Given the description of an element on the screen output the (x, y) to click on. 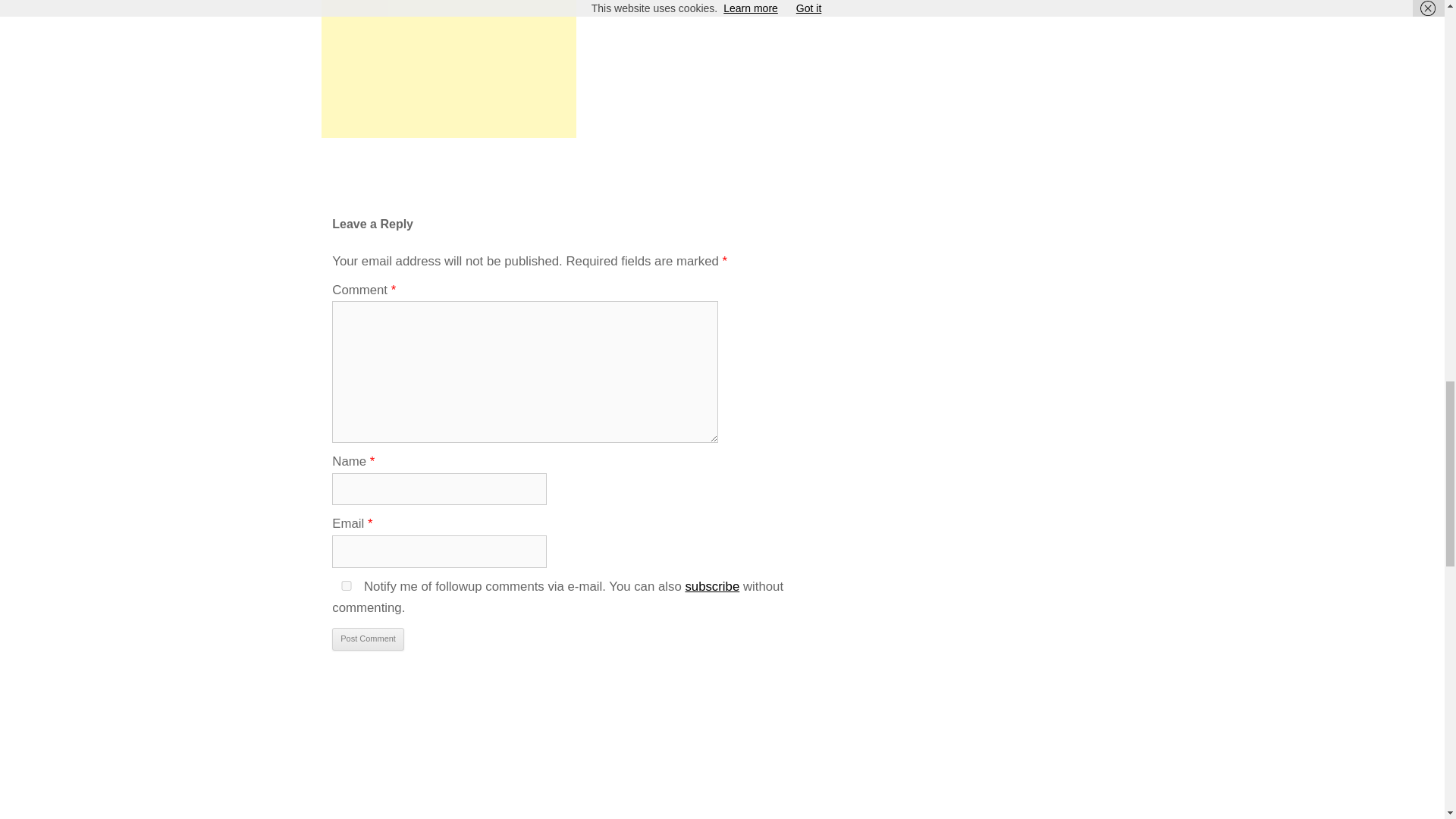
Post Comment (367, 639)
Post Comment (367, 639)
subscribe (711, 586)
yes (346, 585)
